Given the description of an element on the screen output the (x, y) to click on. 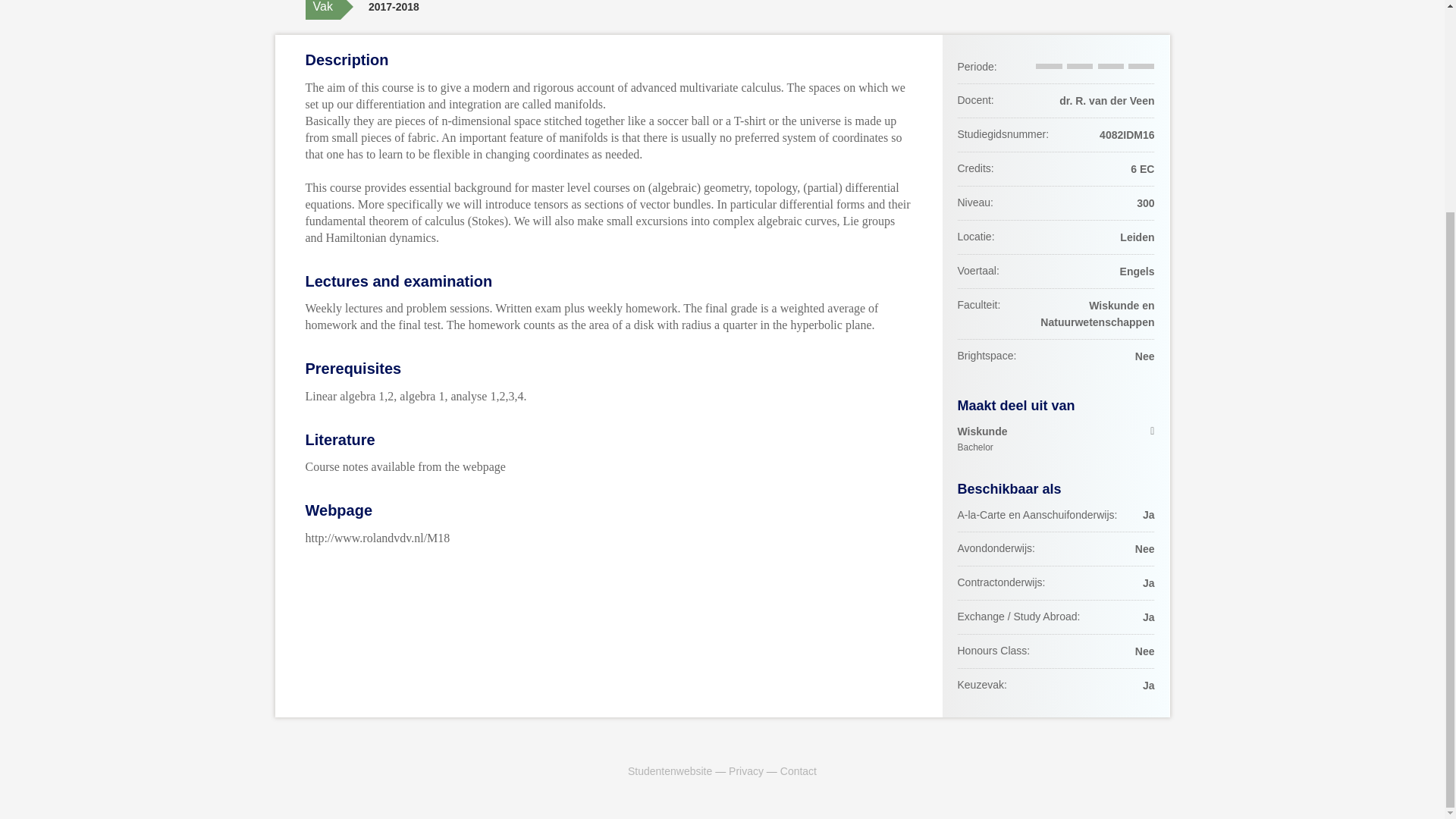
Studentenwebsite (669, 770)
Contact (1055, 439)
Privacy (798, 770)
